Given the description of an element on the screen output the (x, y) to click on. 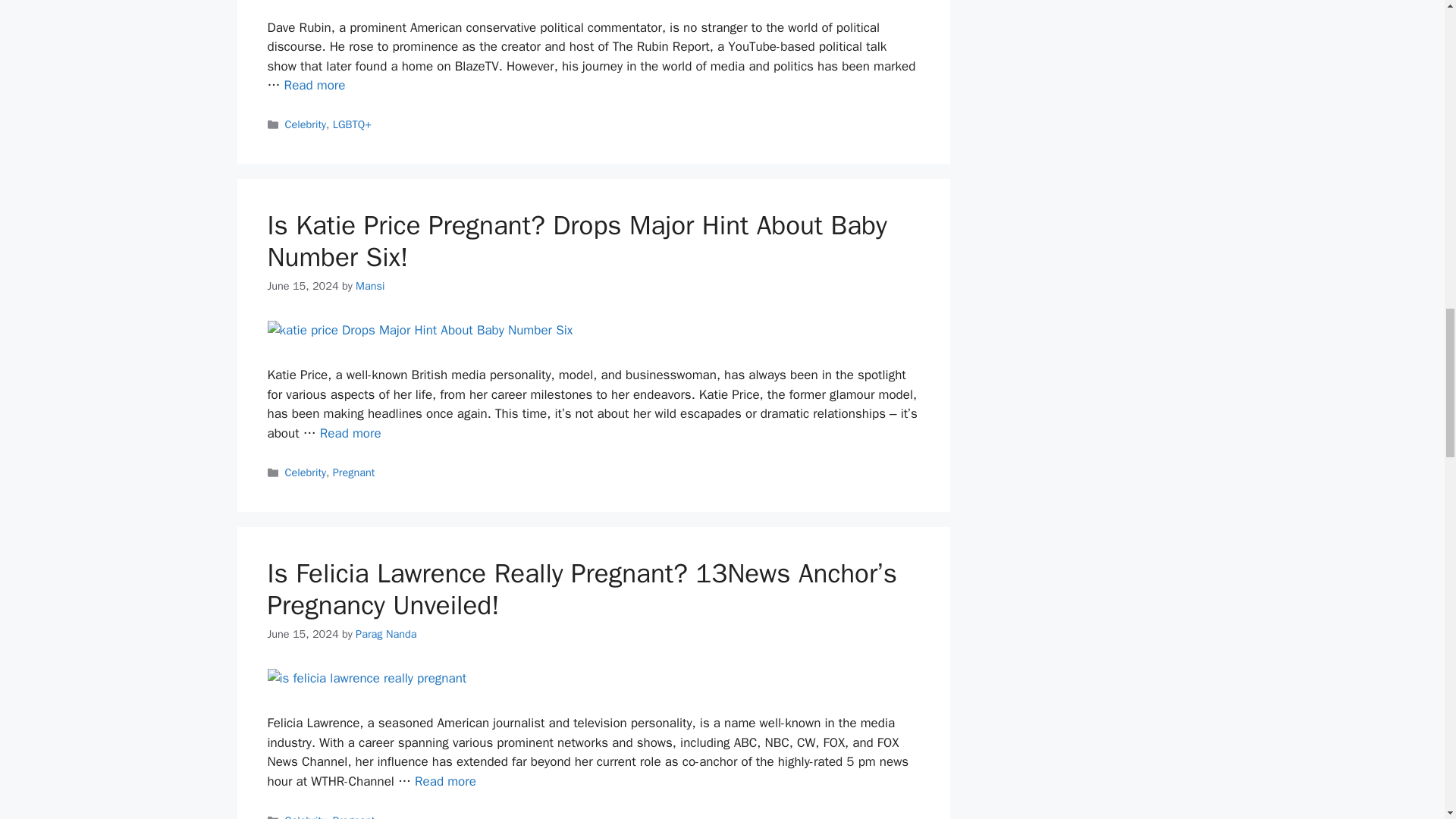
View all posts by Mansi (369, 285)
Mansi (369, 285)
Celebrity (305, 124)
Read more (314, 84)
View all posts by Parag Nanda (385, 633)
